Given the description of an element on the screen output the (x, y) to click on. 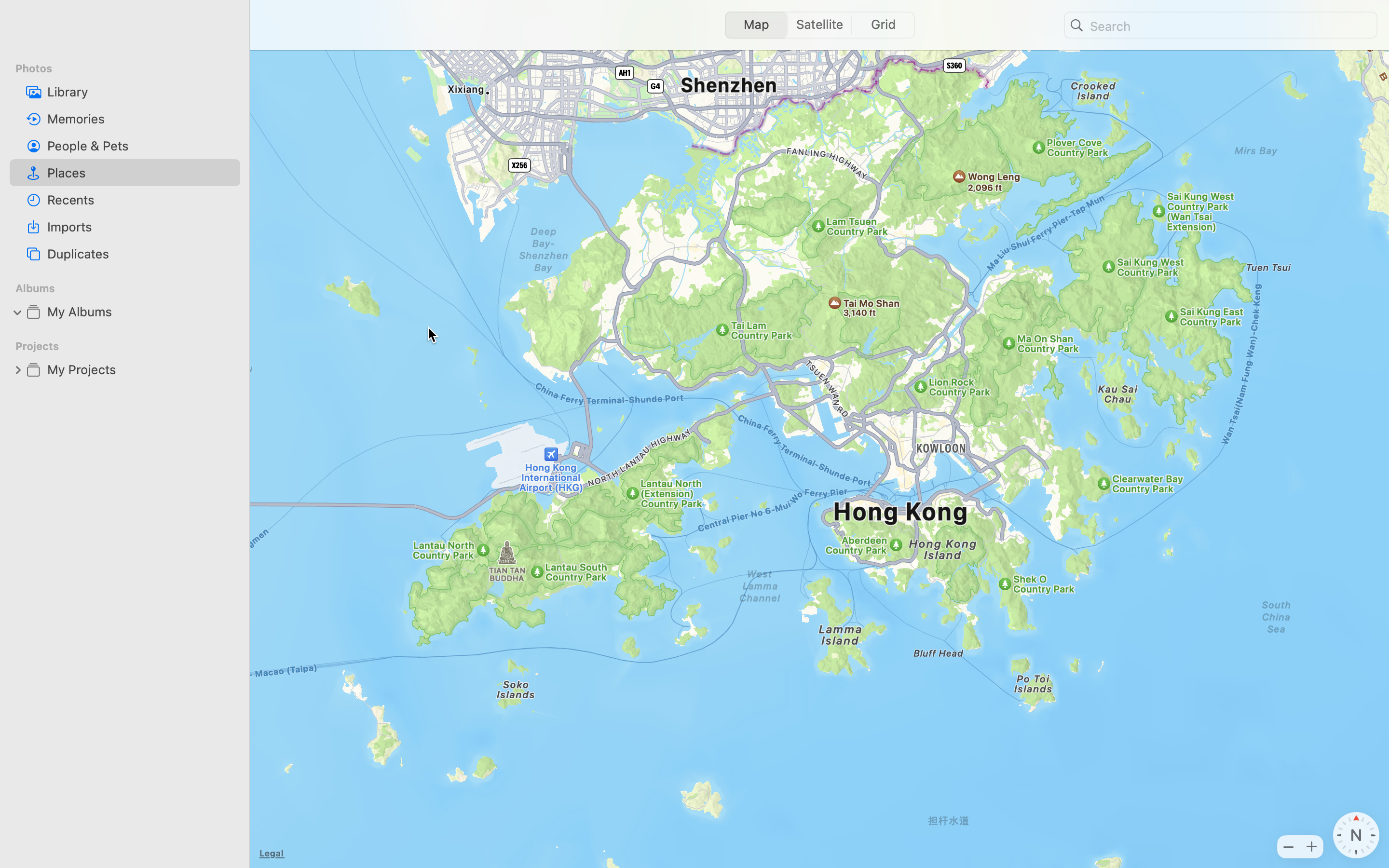
Albums Element type: AXStaticText (130, 288)
1 Element type: AXRadioButton (753, 24)
My Projects Element type: AXStaticText (139, 369)
Library Element type: AXStaticText (139, 91)
Imports Element type: AXStaticText (139, 226)
